Given the description of an element on the screen output the (x, y) to click on. 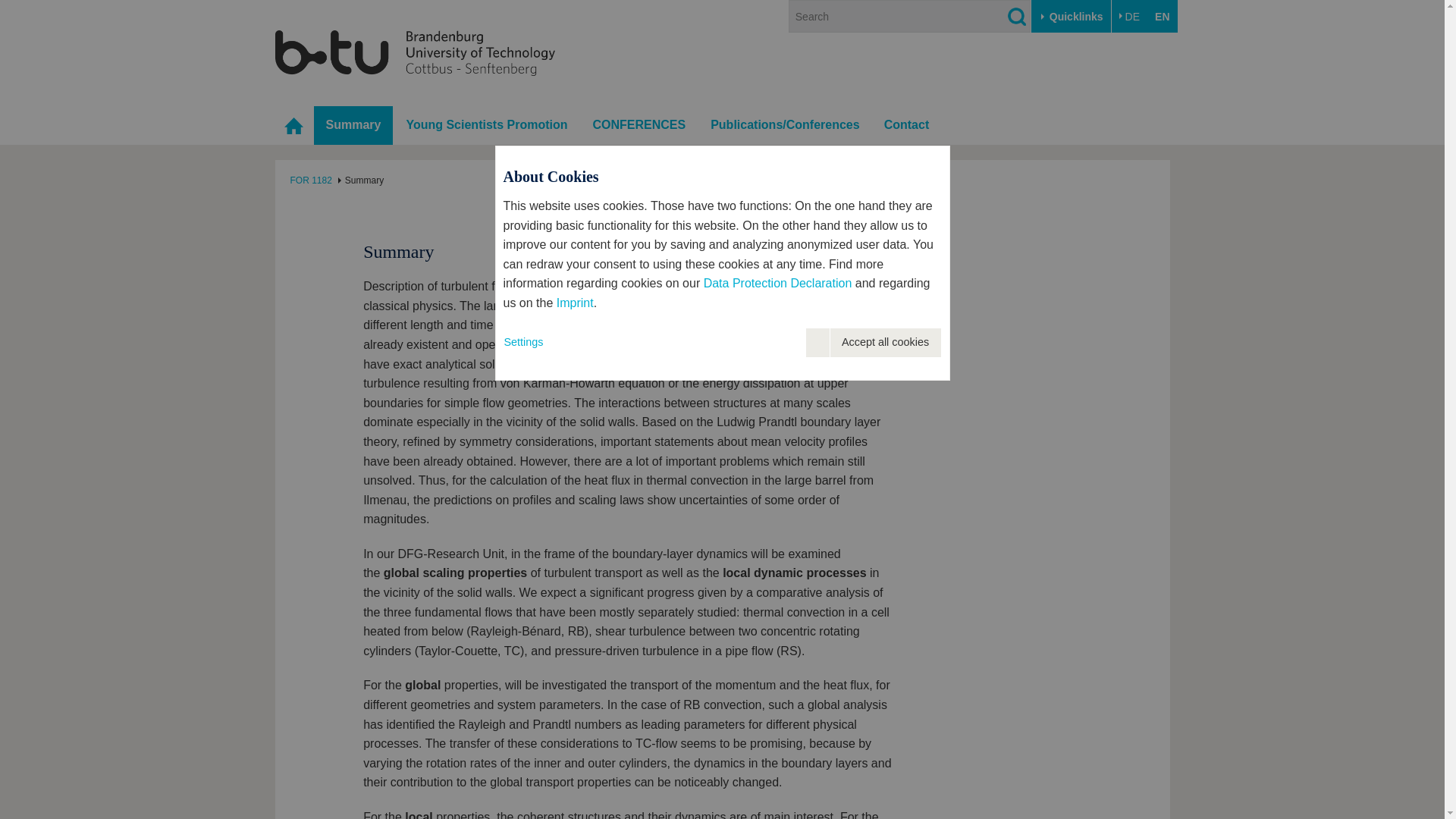
Summary (353, 125)
Contact (907, 125)
DE (1129, 16)
FOR 1182 (310, 180)
Young Scientists Promotion (486, 125)
Quicklinks (1070, 16)
Zur Startseite (414, 51)
CONFERENCES (638, 125)
